Given the description of an element on the screen output the (x, y) to click on. 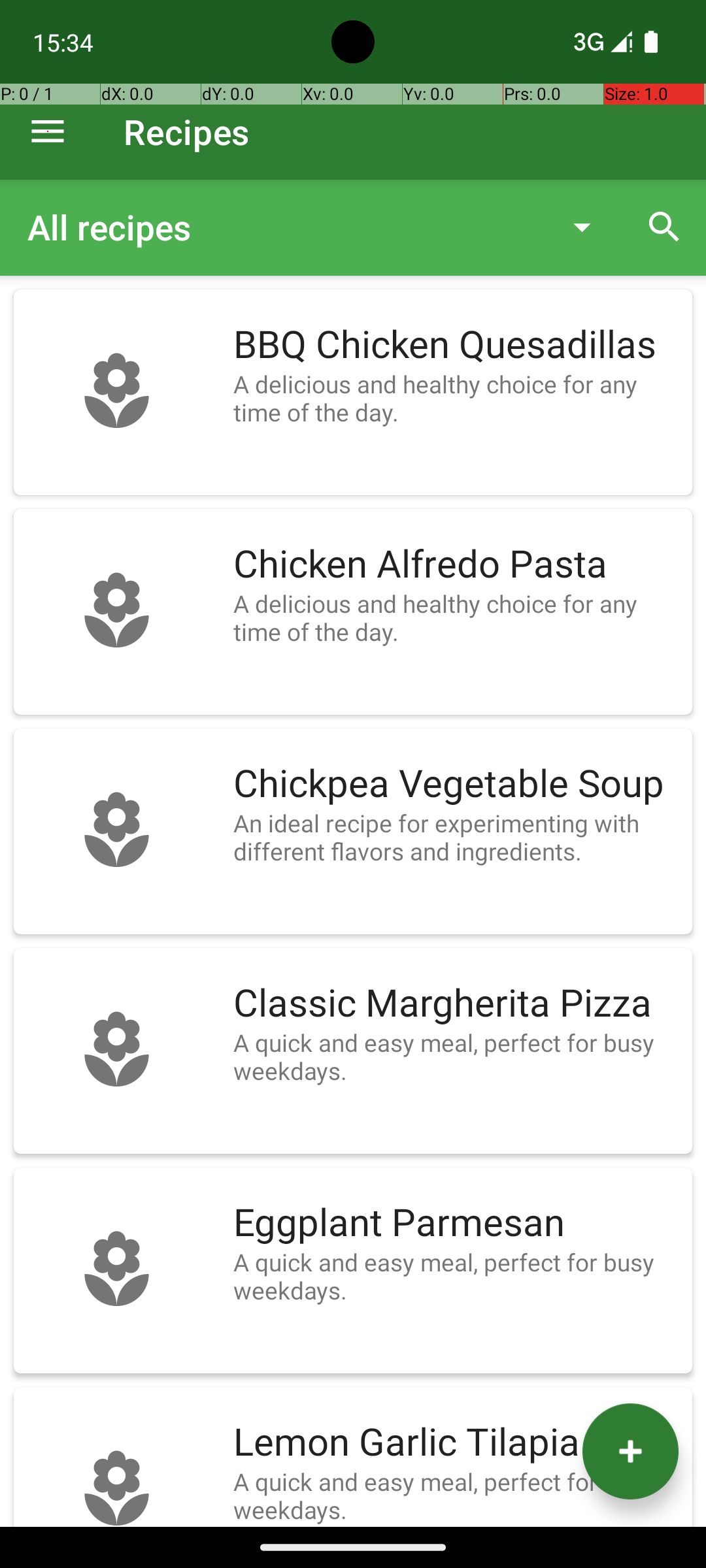
BBQ Chicken Quesadillas Element type: android.widget.TextView (455, 344)
Chickpea Vegetable Soup Element type: android.widget.TextView (455, 783)
Classic Margherita Pizza Element type: android.widget.TextView (455, 1003)
Lemon Garlic Tilapia Element type: android.widget.TextView (455, 1442)
